Given the description of an element on the screen output the (x, y) to click on. 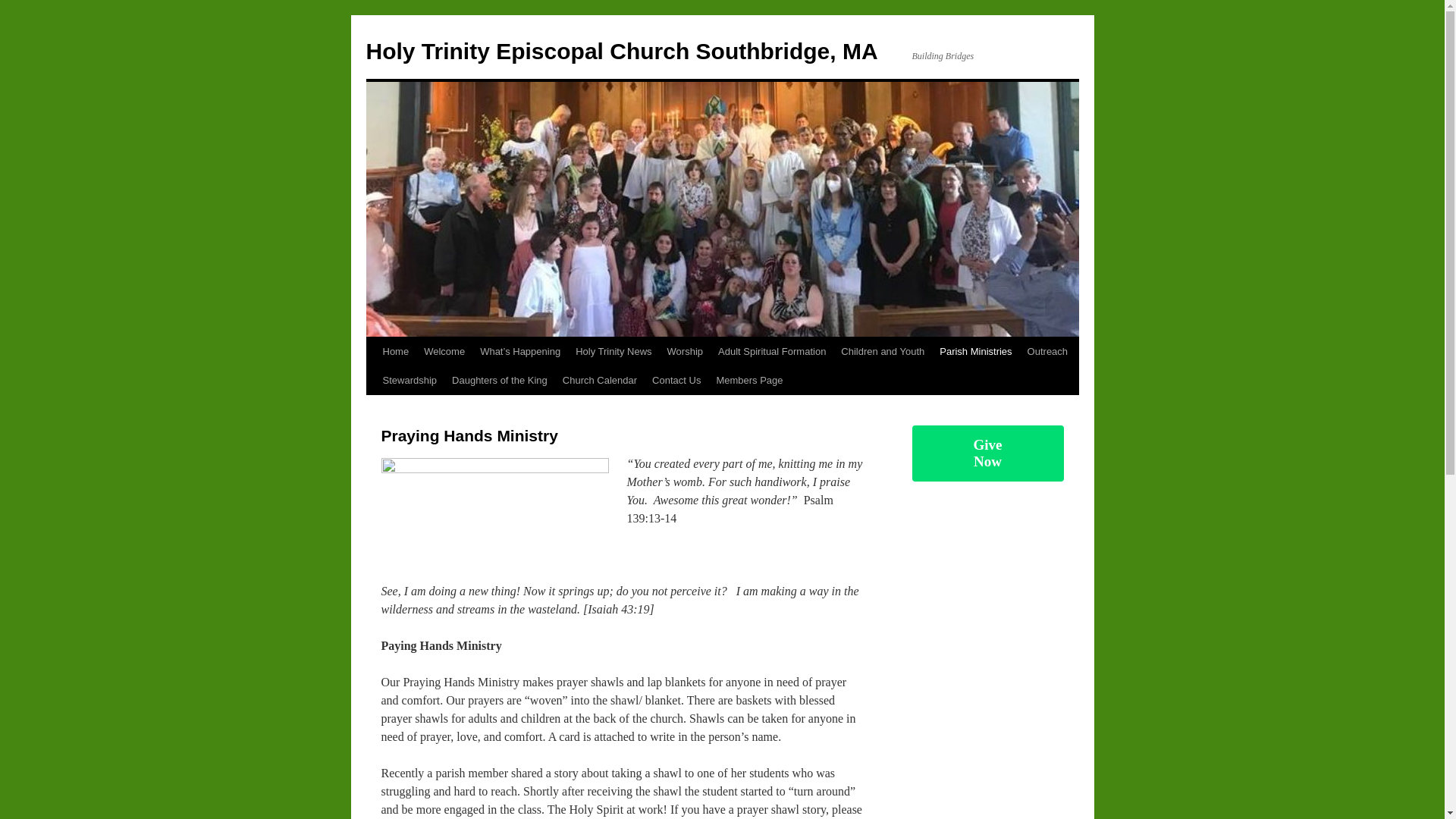
Holy Trinity Episcopal Church Southbridge, MA (621, 50)
Home (395, 351)
Welcome (443, 351)
Holy Trinity News (613, 351)
Worship (684, 351)
